Given the description of an element on the screen output the (x, y) to click on. 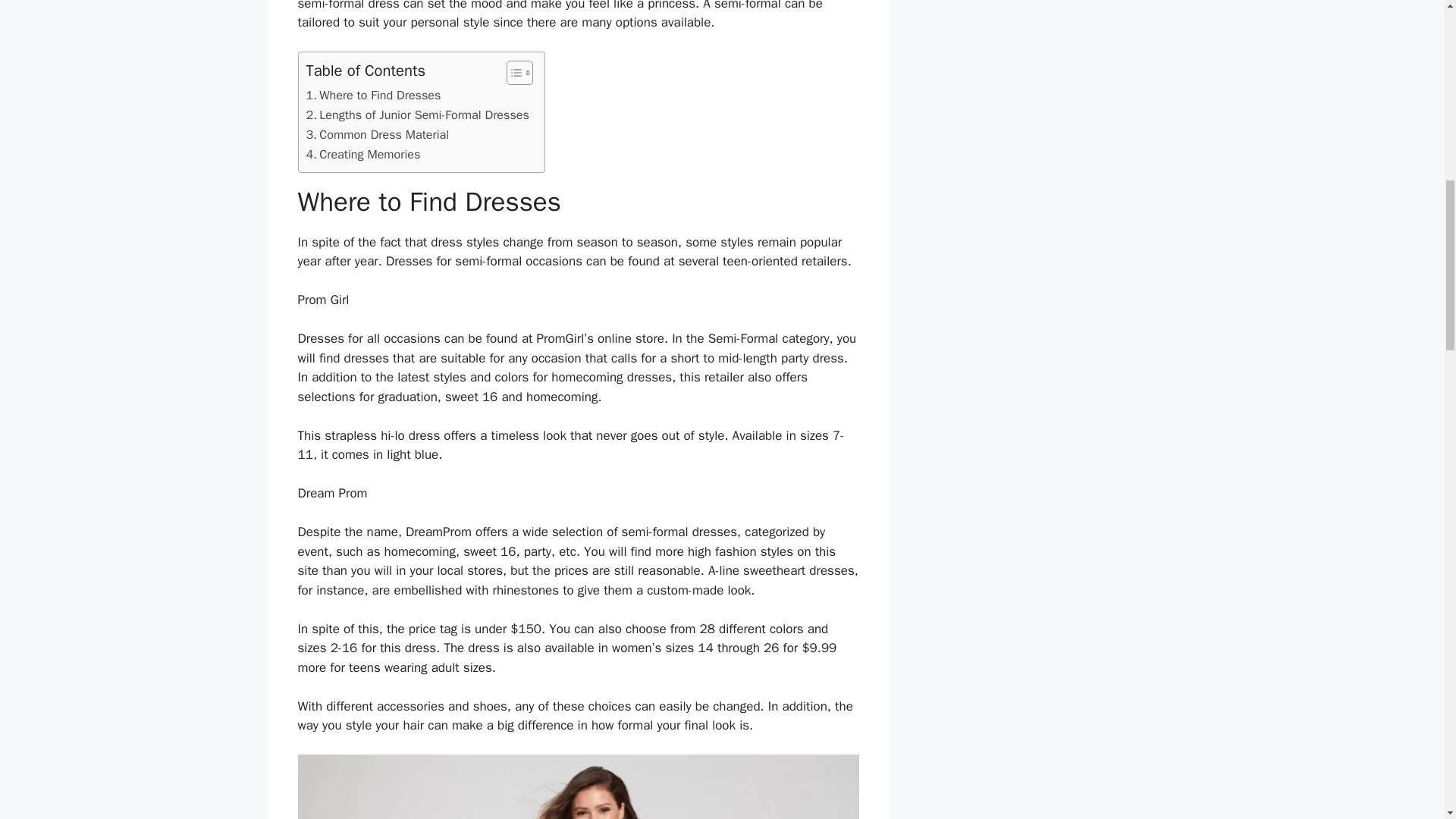
Where to Find Dresses (373, 95)
Lengths of Junior Semi-Formal Dresses (417, 115)
Creating Memories (362, 154)
Common Dress Material (377, 134)
Where to Find Dresses (373, 95)
